Given the description of an element on the screen output the (x, y) to click on. 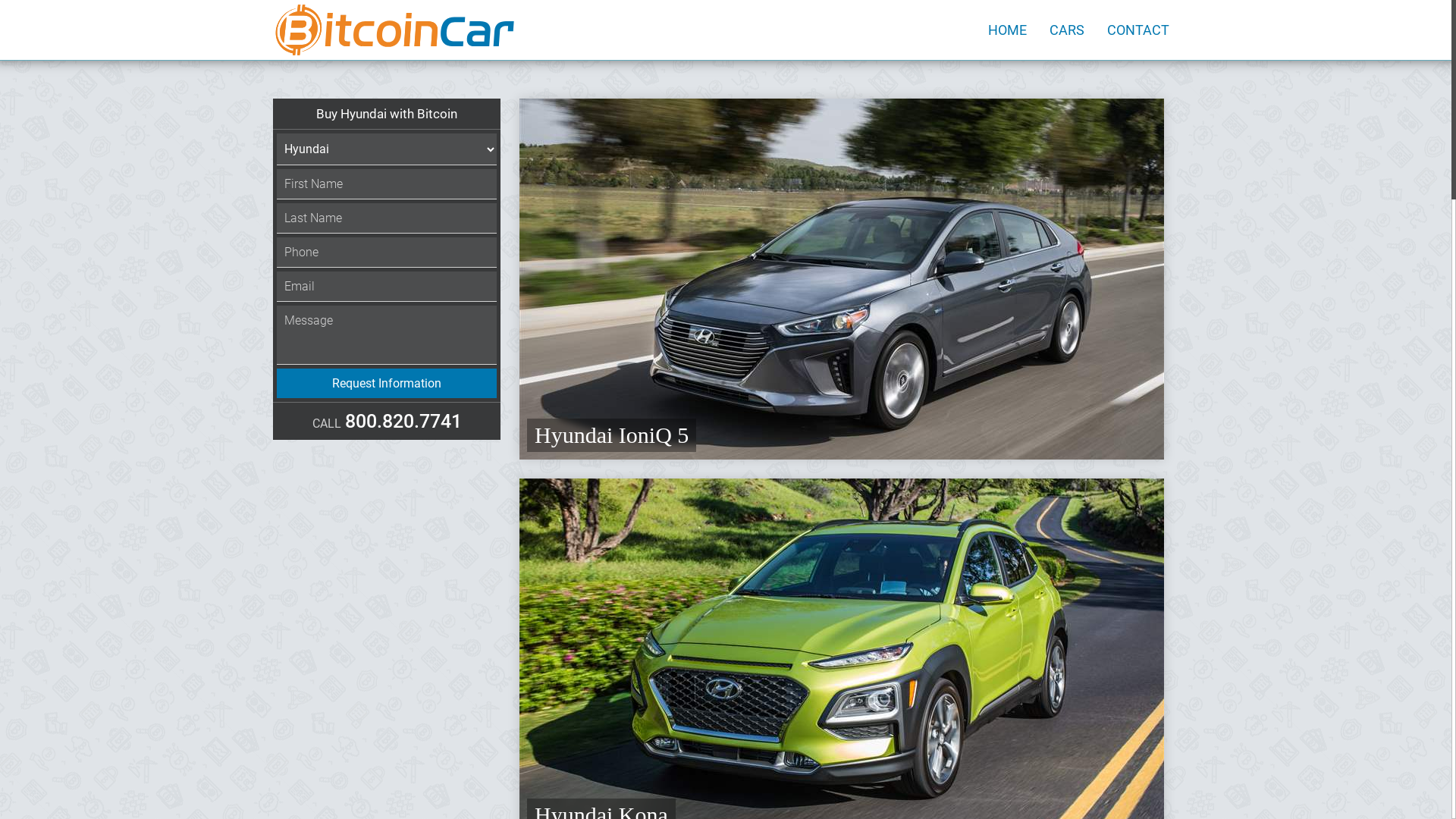
HOME Element type: text (1007, 29)
CONTACT Element type: text (1137, 29)
800.820.7741 Element type: text (402, 421)
